Given the description of an element on the screen output the (x, y) to click on. 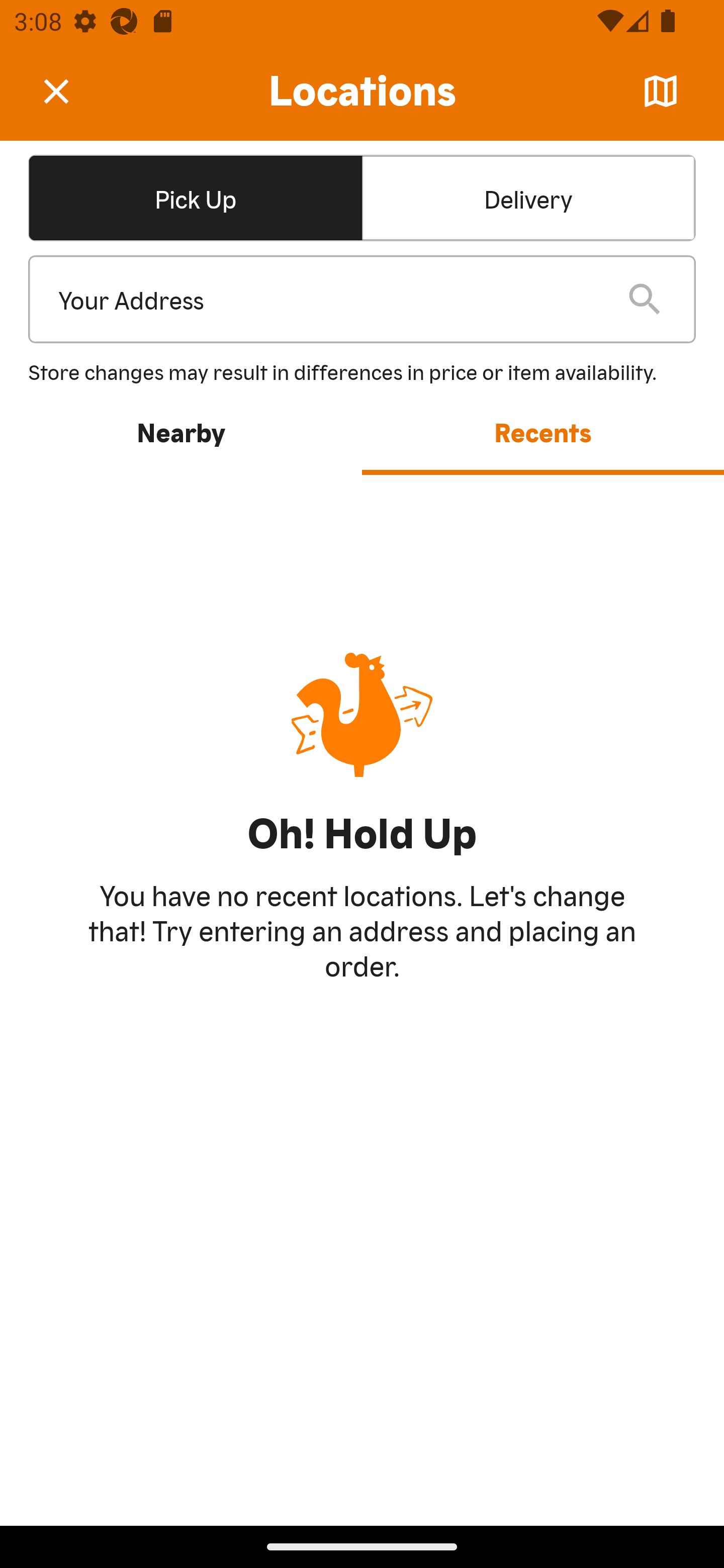
 (70, 90)
Map 󰦂 (660, 91)
Locations (362, 91)
Pick UpSelected Pick UpSelected Pick Up (195, 197)
Delivery Delivery Delivery (528, 197)
Your Address (327, 299)
Nearby (181, 430)
Recents (543, 430)
